Given the description of an element on the screen output the (x, y) to click on. 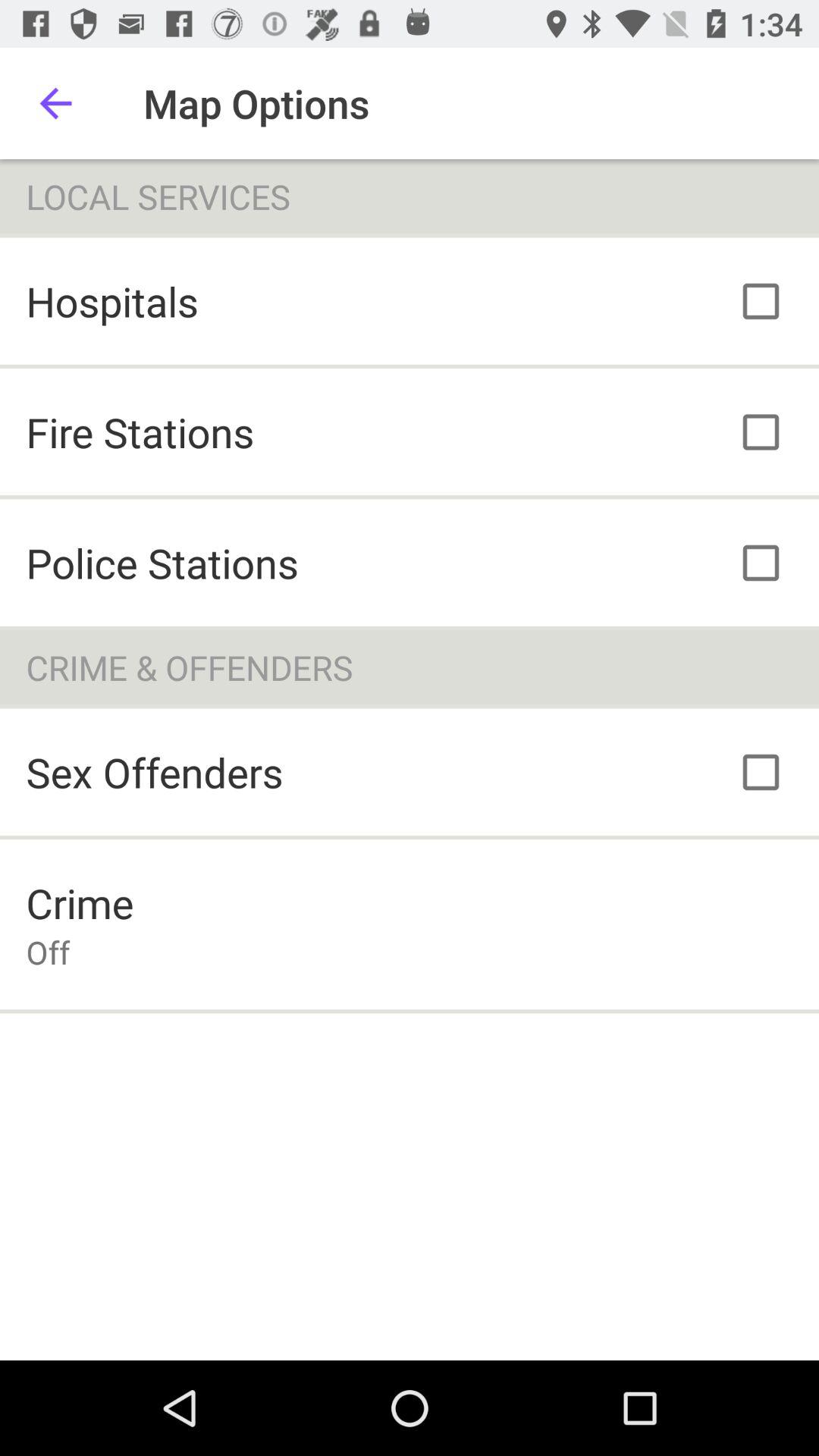
choose item above the fire stations (112, 300)
